Given the description of an element on the screen output the (x, y) to click on. 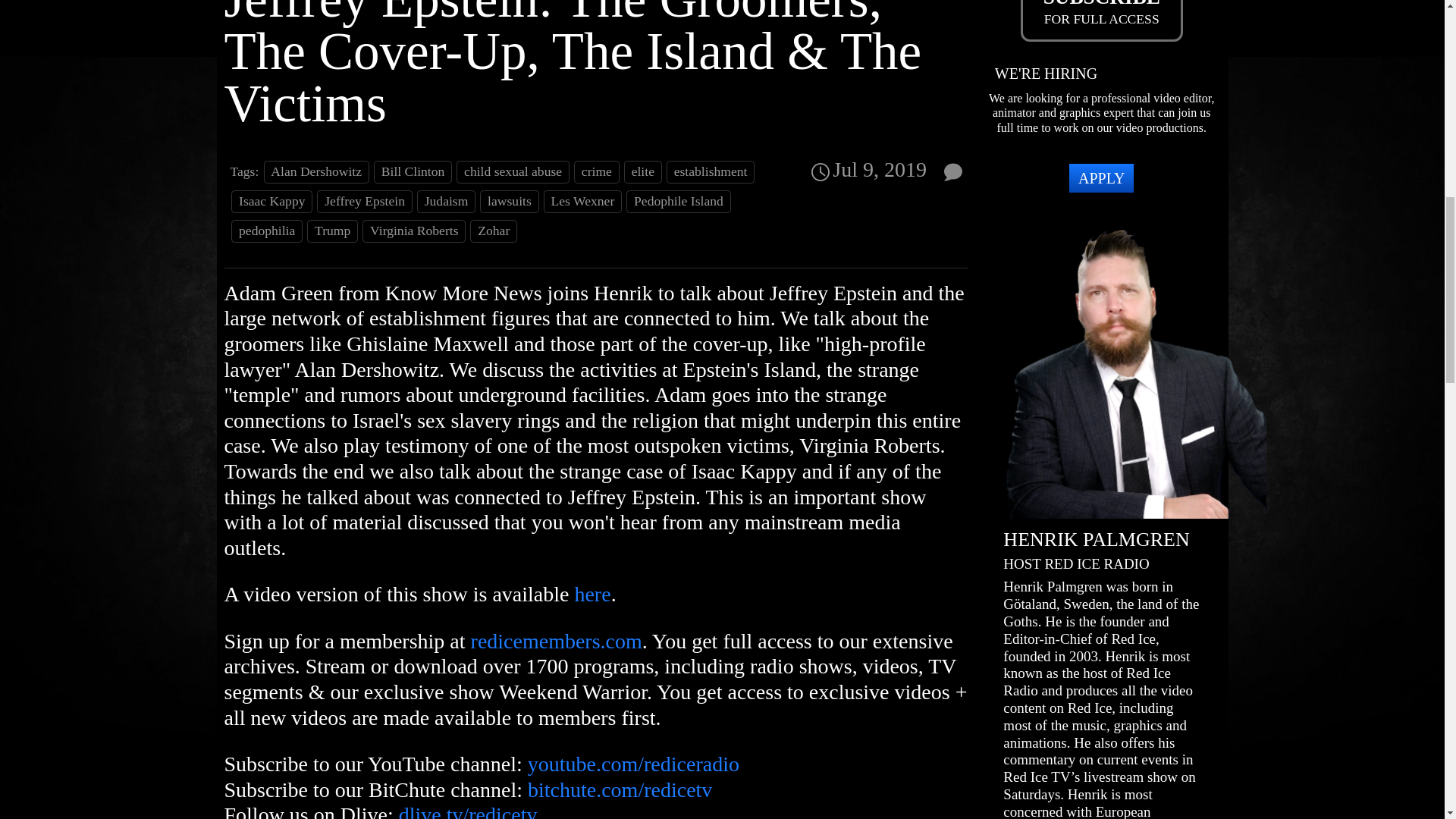
Bill Clinton (412, 171)
crime (596, 171)
lawsuits (509, 201)
Alan Dershowitz (316, 171)
establishment (710, 171)
elite (643, 171)
Judaism (446, 201)
child sexual abuse (513, 171)
Isaac Kappy (272, 201)
Jeffrey Epstein (364, 201)
